Given the description of an element on the screen output the (x, y) to click on. 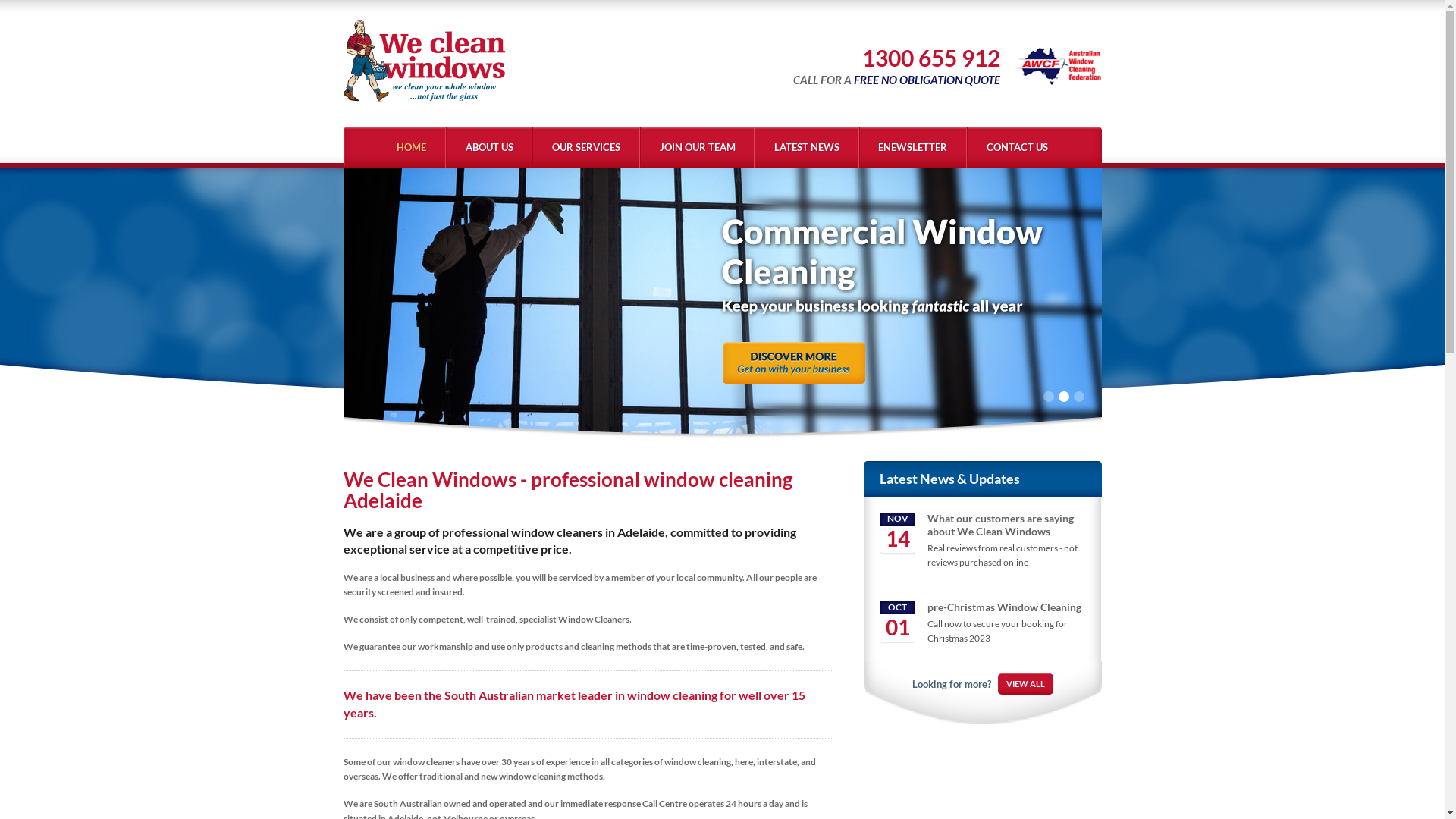
LATEST NEWS Element type: text (806, 147)
What our customers are saying about We Clean Windows Element type: text (1000, 524)
pre-Christmas Window Cleaning Element type: text (1004, 606)
OCT
01 Element type: text (897, 626)
VIEW ALL Element type: text (1025, 683)
CONTACT US Element type: text (1016, 147)
NOV
14 Element type: text (897, 537)
JOIN OUR TEAM Element type: text (697, 147)
Latest News & Updates Element type: text (949, 478)
HOME Element type: text (411, 147)
OUR SERVICES Element type: text (585, 147)
ABOUT US Element type: text (488, 147)
ENEWSLETTER Element type: text (912, 147)
1300 655 912
CALL FOR A FREE NO OBLIGATION QUOTE Element type: text (904, 65)
